Given the description of an element on the screen output the (x, y) to click on. 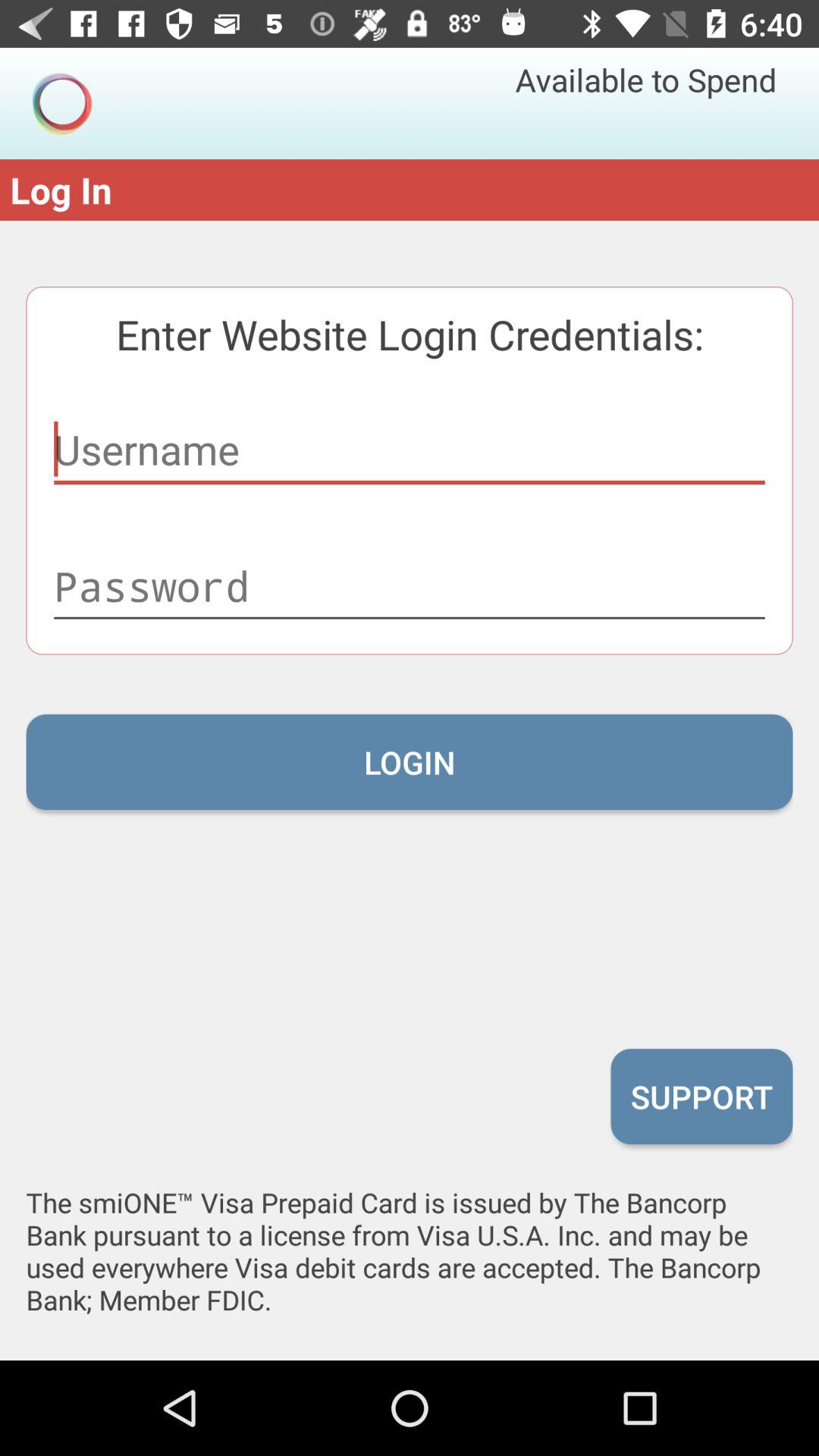
enter username of app to login (409, 449)
